Given the description of an element on the screen output the (x, y) to click on. 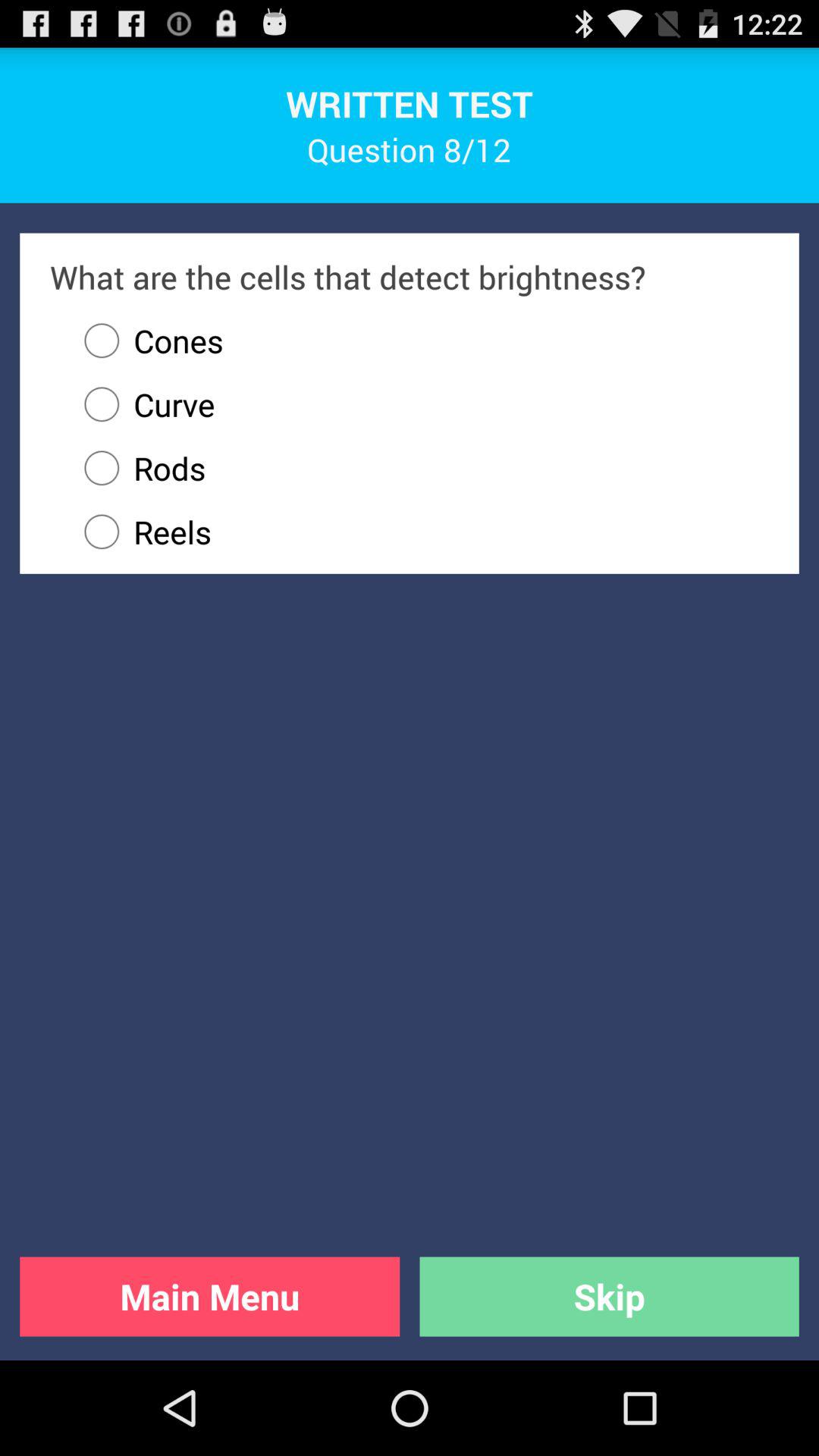
tap the radio button above reels icon (418, 467)
